Given the description of an element on the screen output the (x, y) to click on. 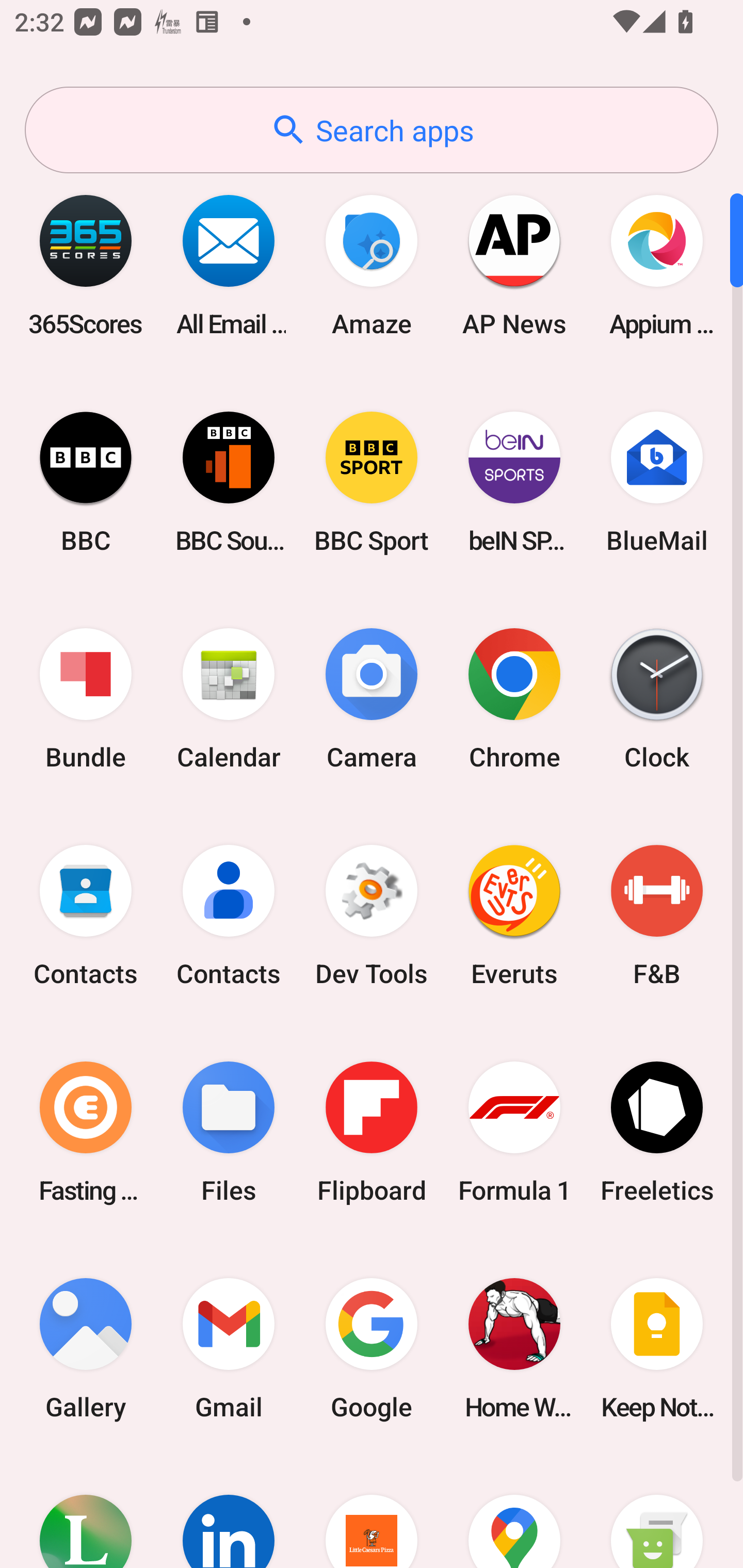
  Search apps (371, 130)
365Scores (85, 264)
All Email Connect (228, 264)
Amaze (371, 264)
AP News (514, 264)
Appium Settings (656, 264)
BBC (85, 482)
BBC Sounds (228, 482)
BBC Sport (371, 482)
beIN SPORTS (514, 482)
BlueMail (656, 482)
Bundle (85, 699)
Calendar (228, 699)
Camera (371, 699)
Chrome (514, 699)
Clock (656, 699)
Contacts (85, 915)
Contacts (228, 915)
Dev Tools (371, 915)
Everuts (514, 915)
F&B (656, 915)
Fasting Coach (85, 1131)
Files (228, 1131)
Flipboard (371, 1131)
Formula 1 (514, 1131)
Freeletics (656, 1131)
Gallery (85, 1348)
Gmail (228, 1348)
Google (371, 1348)
Home Workout (514, 1348)
Keep Notes (656, 1348)
